Given the description of an element on the screen output the (x, y) to click on. 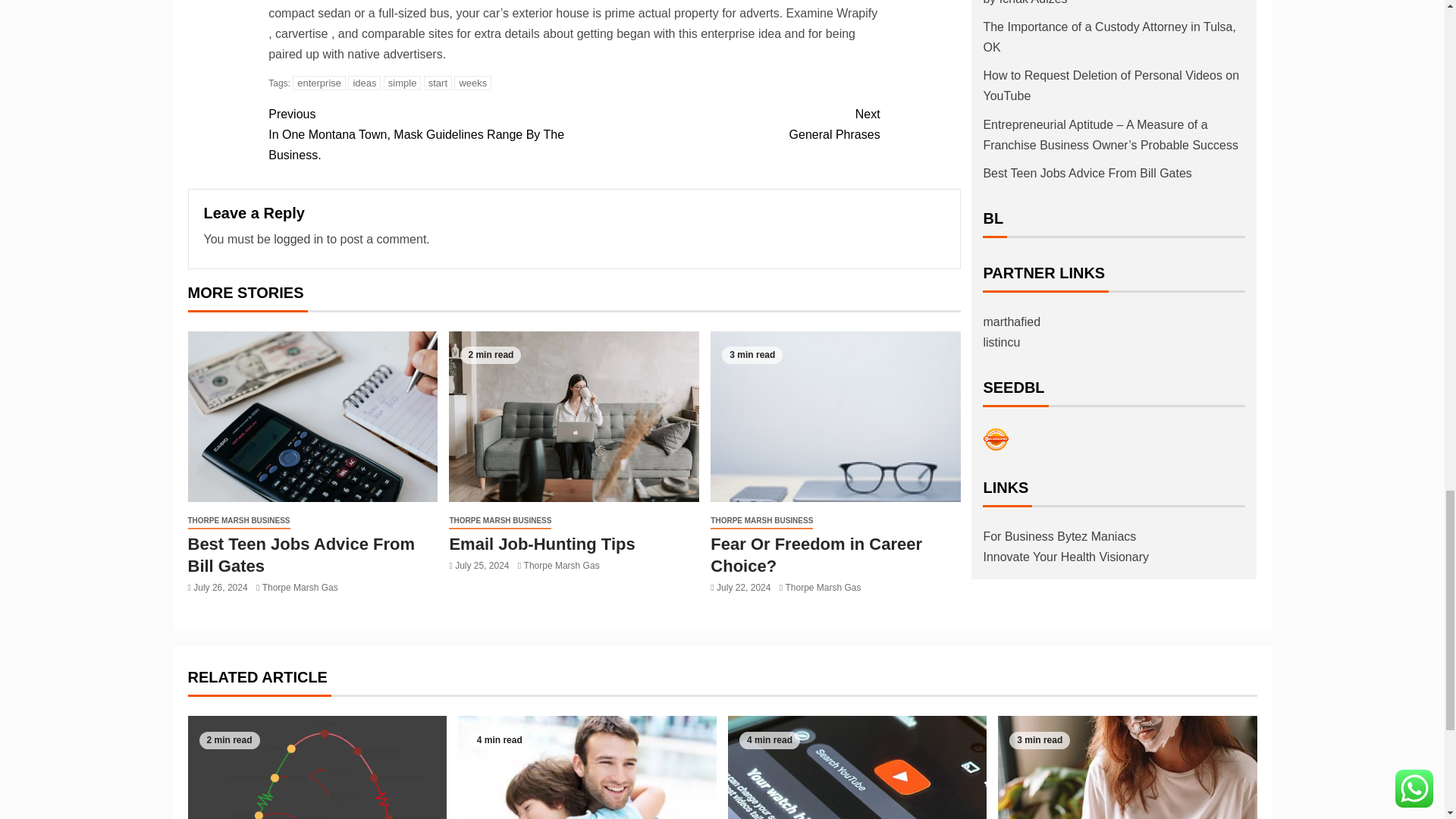
Best Teen Jobs Advice From Bill Gates (312, 416)
weeks (473, 83)
enterprise (319, 83)
simple (403, 83)
start (437, 83)
Email Job-Hunting Tips (573, 416)
Fear Or Freedom in Career Choice? (835, 416)
ideas (363, 83)
